Given the description of an element on the screen output the (x, y) to click on. 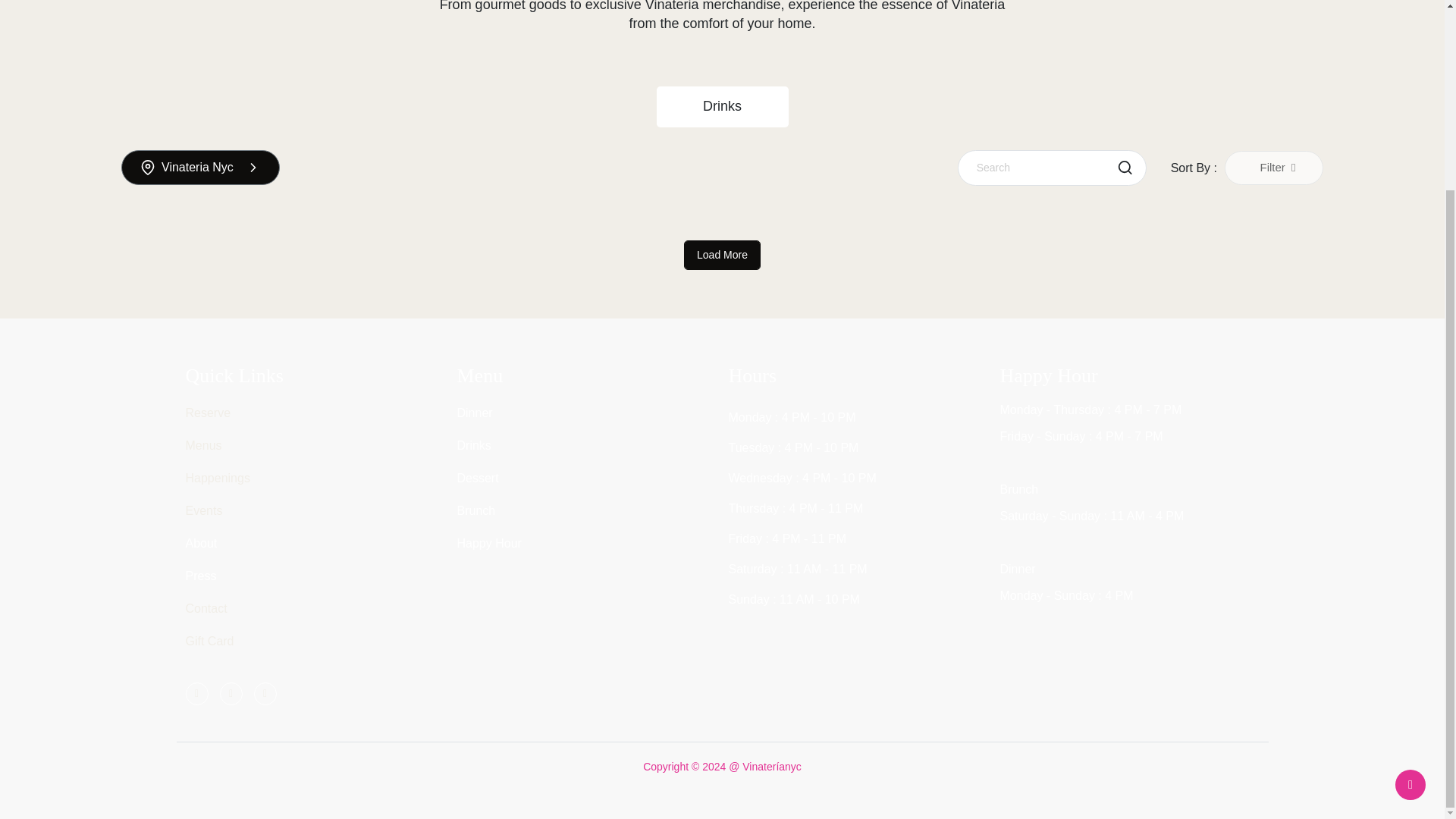
Vinateria Nyc (199, 167)
Drinks (722, 106)
Reserve (207, 413)
Load More (722, 255)
Menus (202, 445)
Filter (1273, 167)
